Given the description of an element on the screen output the (x, y) to click on. 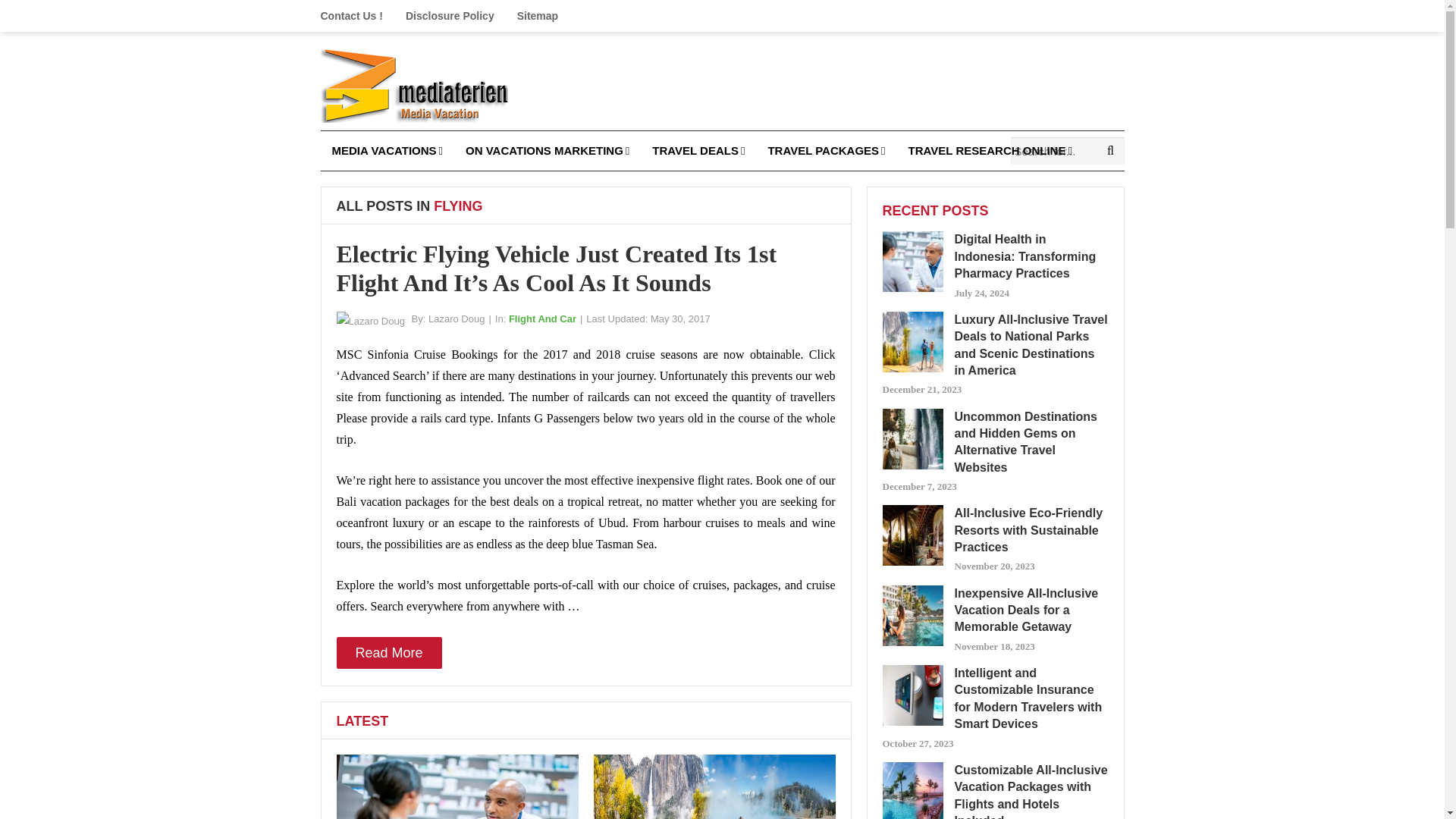
Sitemap (537, 15)
Contact Us ! (356, 15)
Disclosure Policy (449, 15)
